Given the description of an element on the screen output the (x, y) to click on. 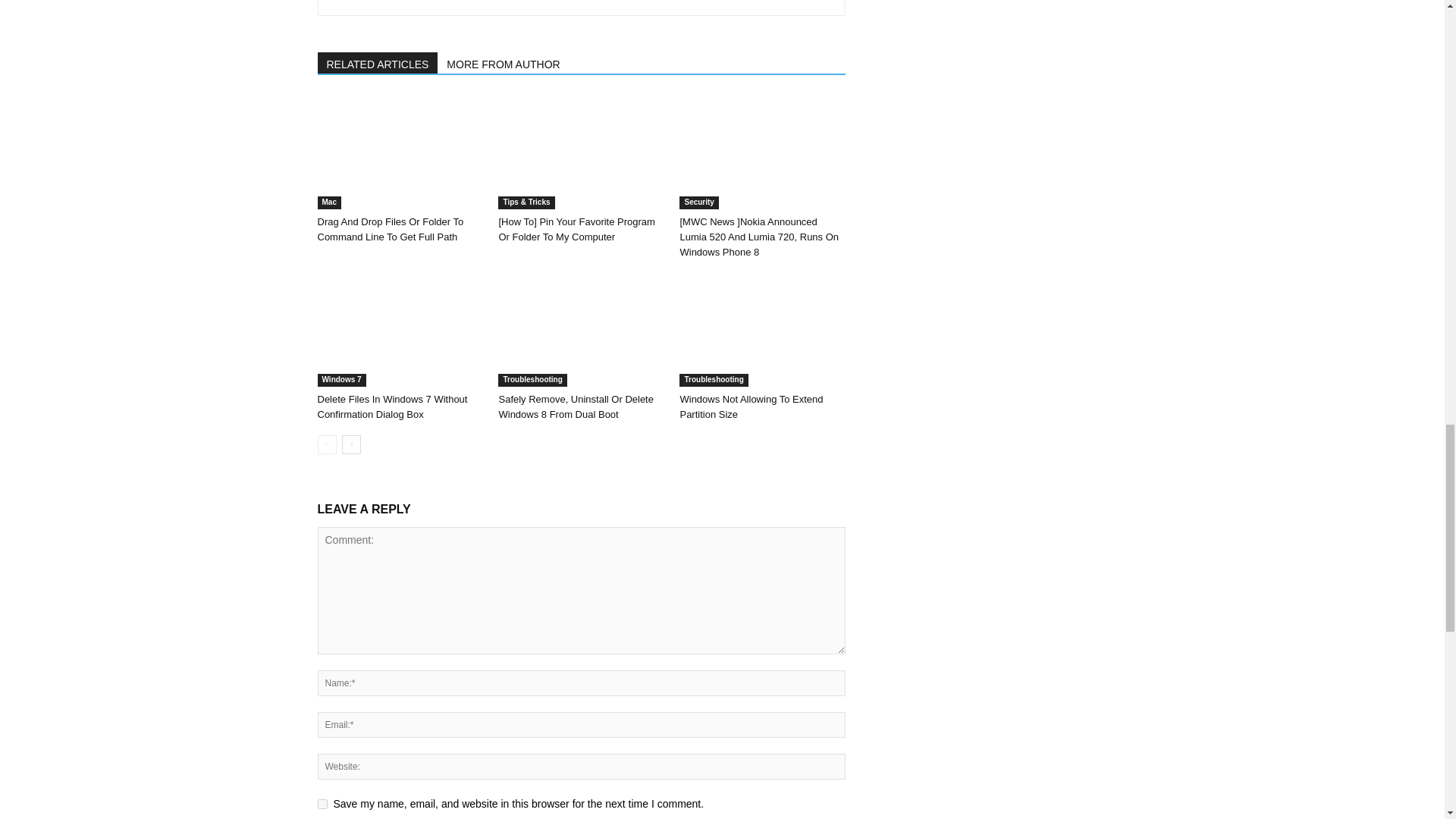
yes (321, 804)
